Given the description of an element on the screen output the (x, y) to click on. 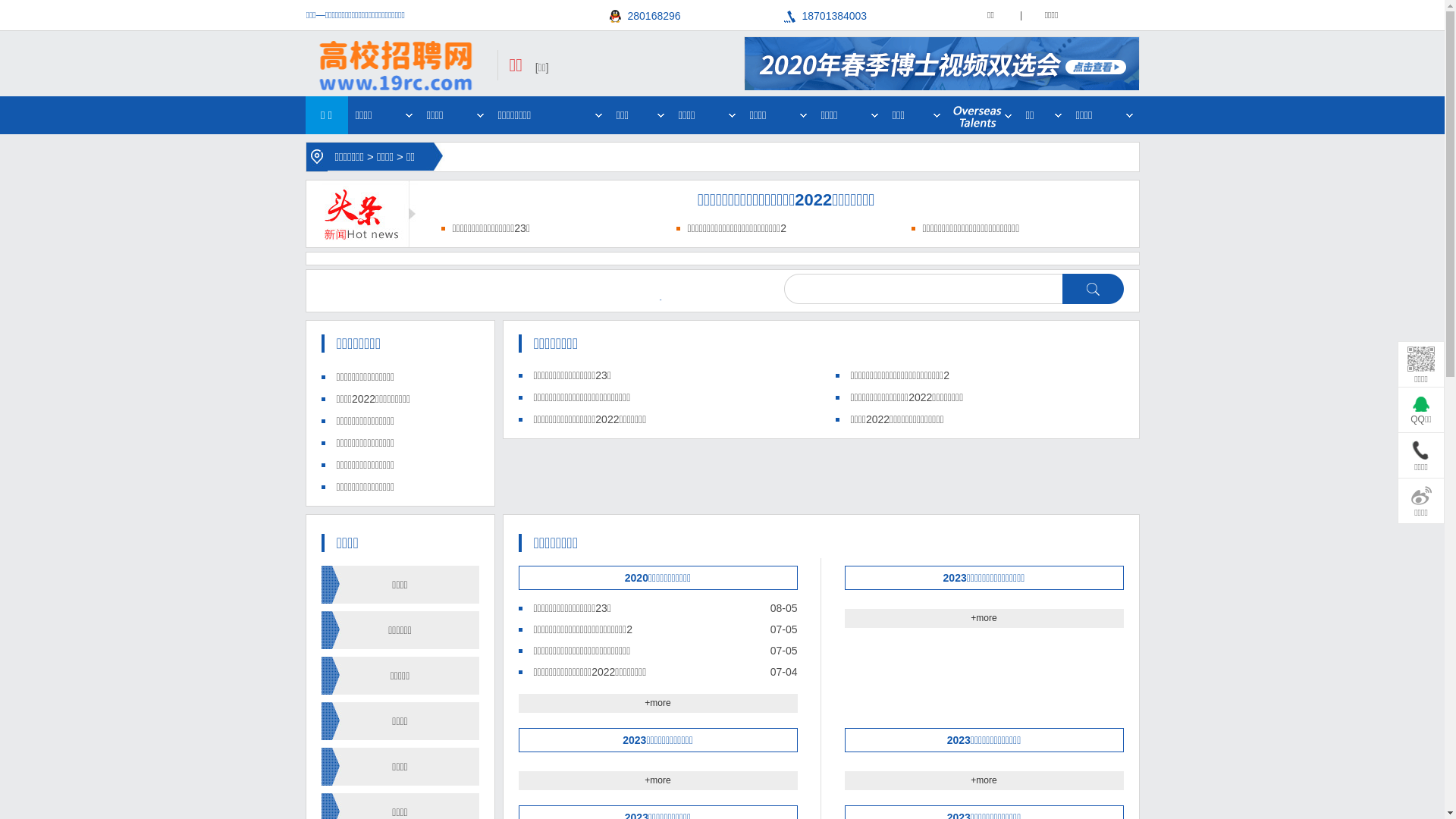
+more Element type: text (983, 617)
+more Element type: text (983, 780)
+more Element type: text (657, 780)
+more Element type: text (657, 702)
18701384003 Element type: text (871, 15)
280168296 Element type: text (696, 15)
